Given the description of an element on the screen output the (x, y) to click on. 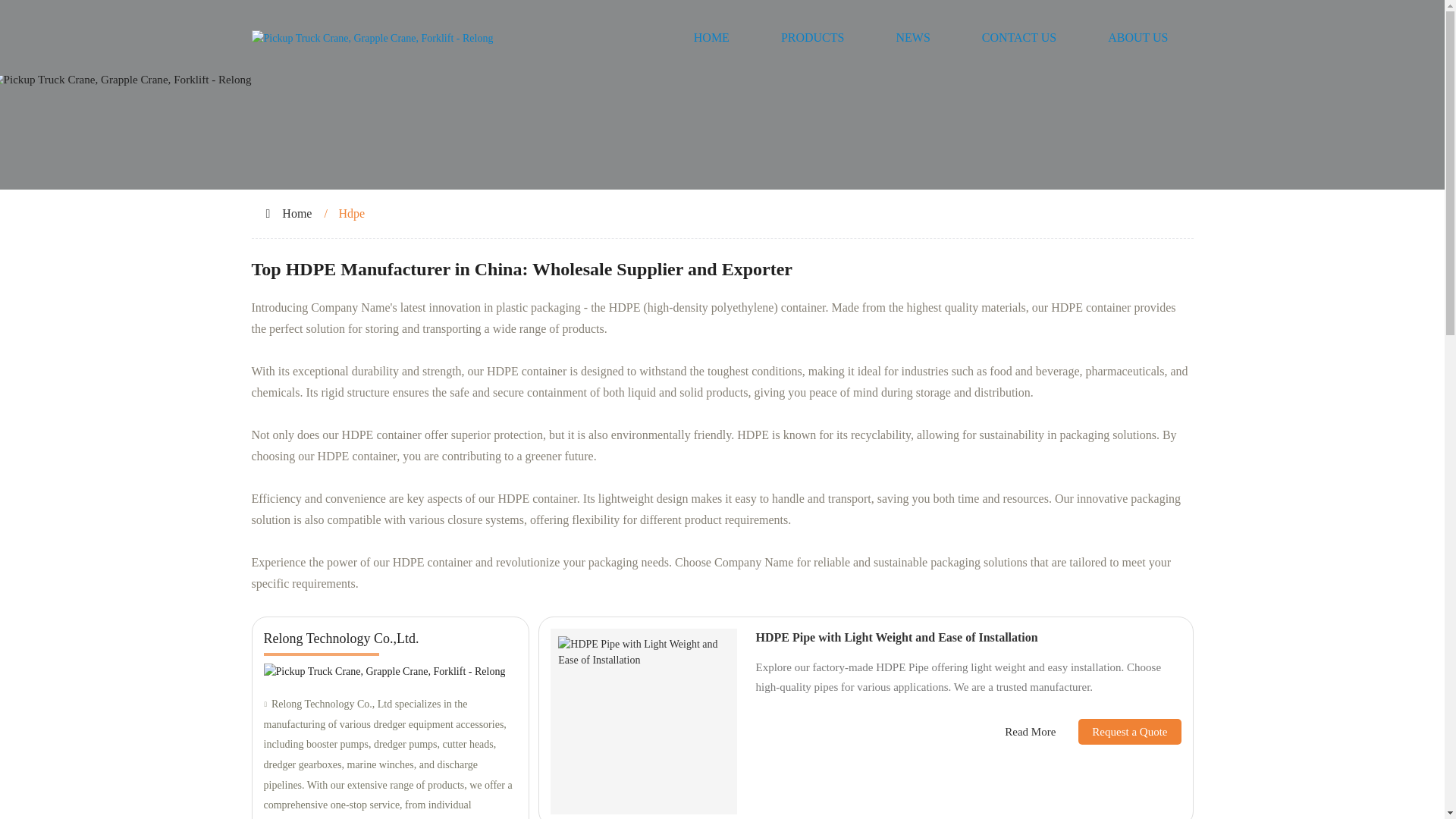
PRODUCTS (812, 38)
Request a Quote (1117, 731)
Home (296, 213)
Read More (1029, 732)
HDPE Pipe with Light Weight and Ease of Installation (895, 636)
CONTACT US (1018, 38)
